Given the description of an element on the screen output the (x, y) to click on. 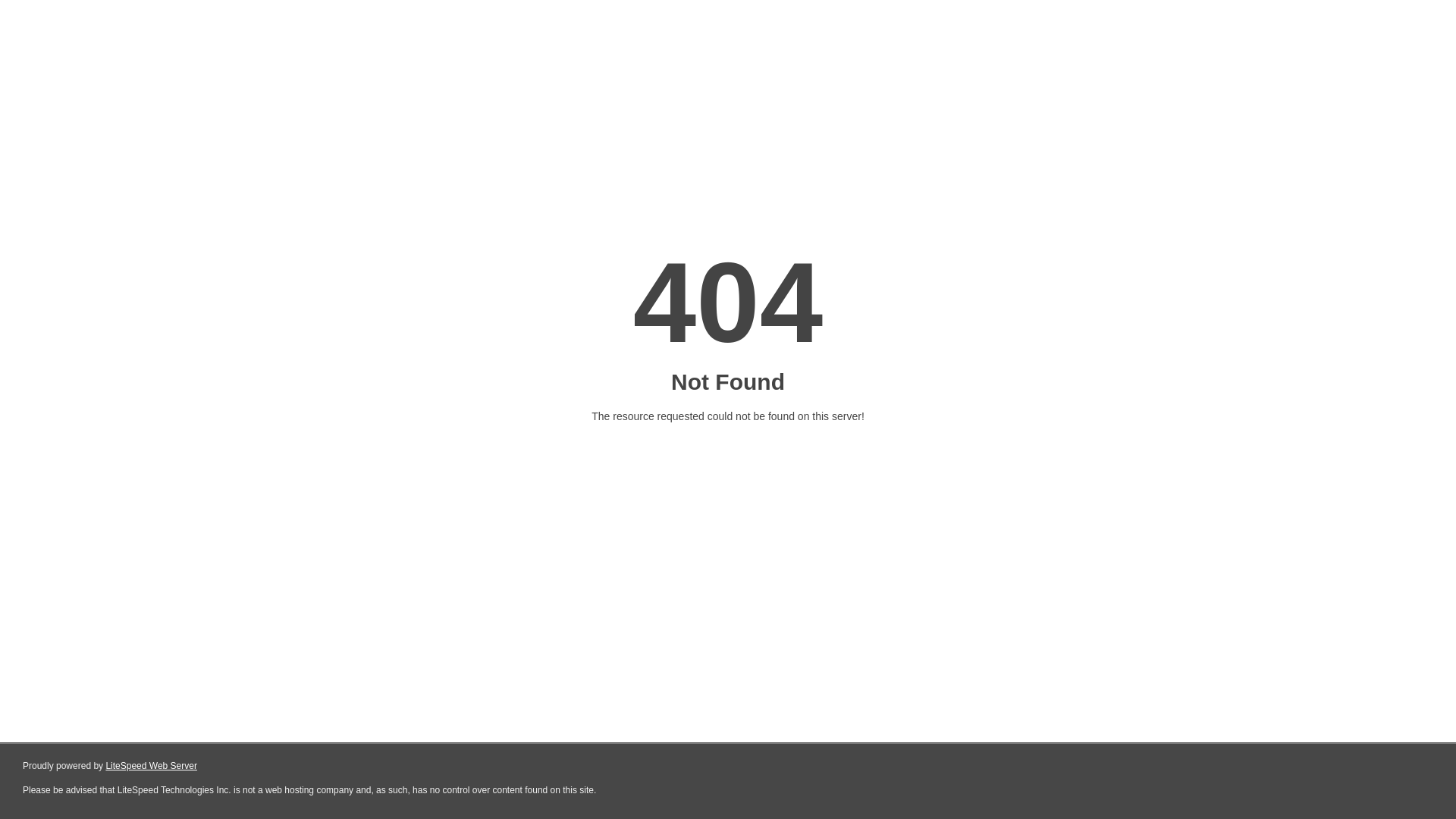
LiteSpeed Web Server Element type: text (151, 765)
